Given the description of an element on the screen output the (x, y) to click on. 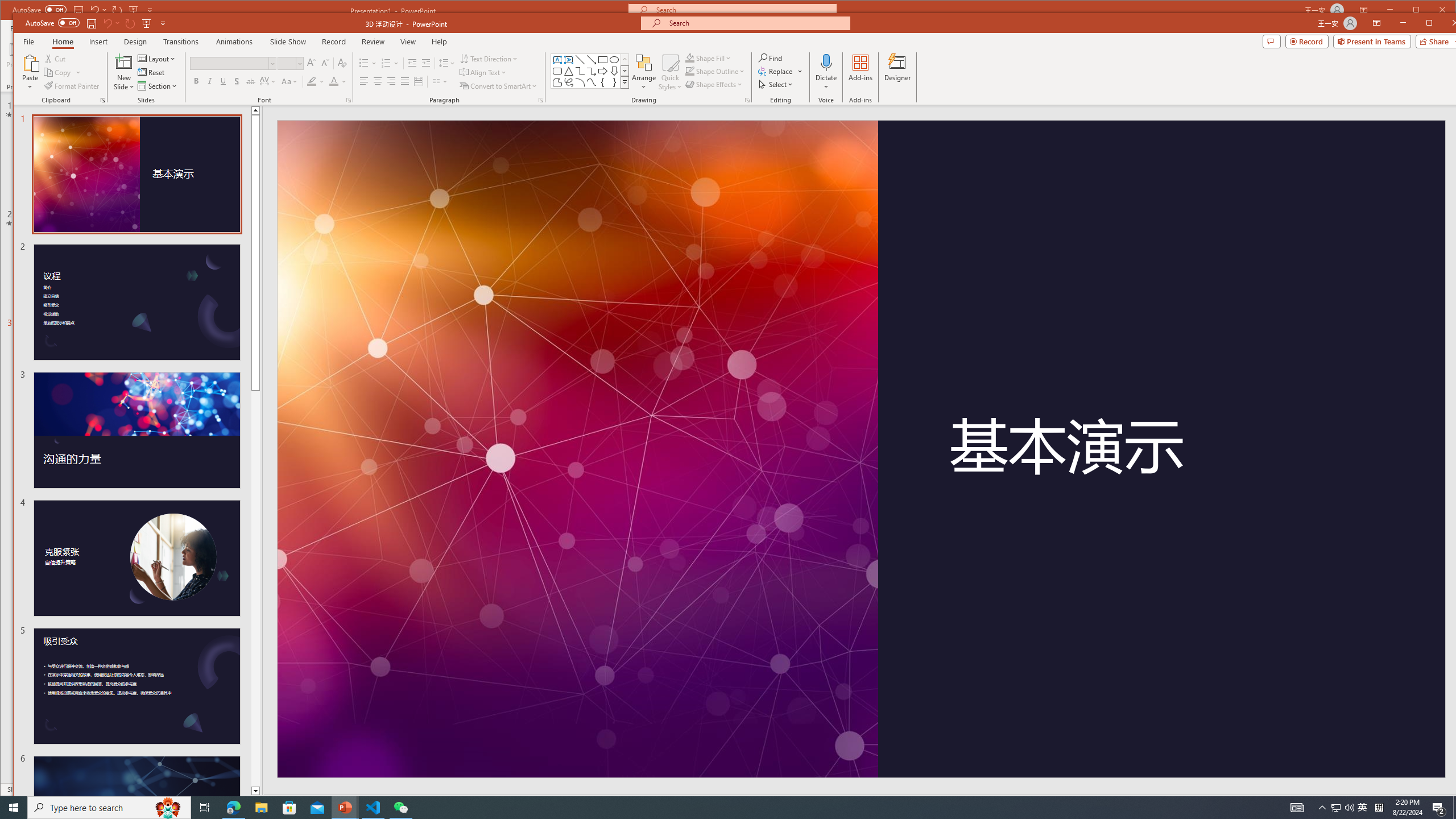
Accessibility Checker Accessibility: Good to go (232, 802)
